Given the description of an element on the screen output the (x, y) to click on. 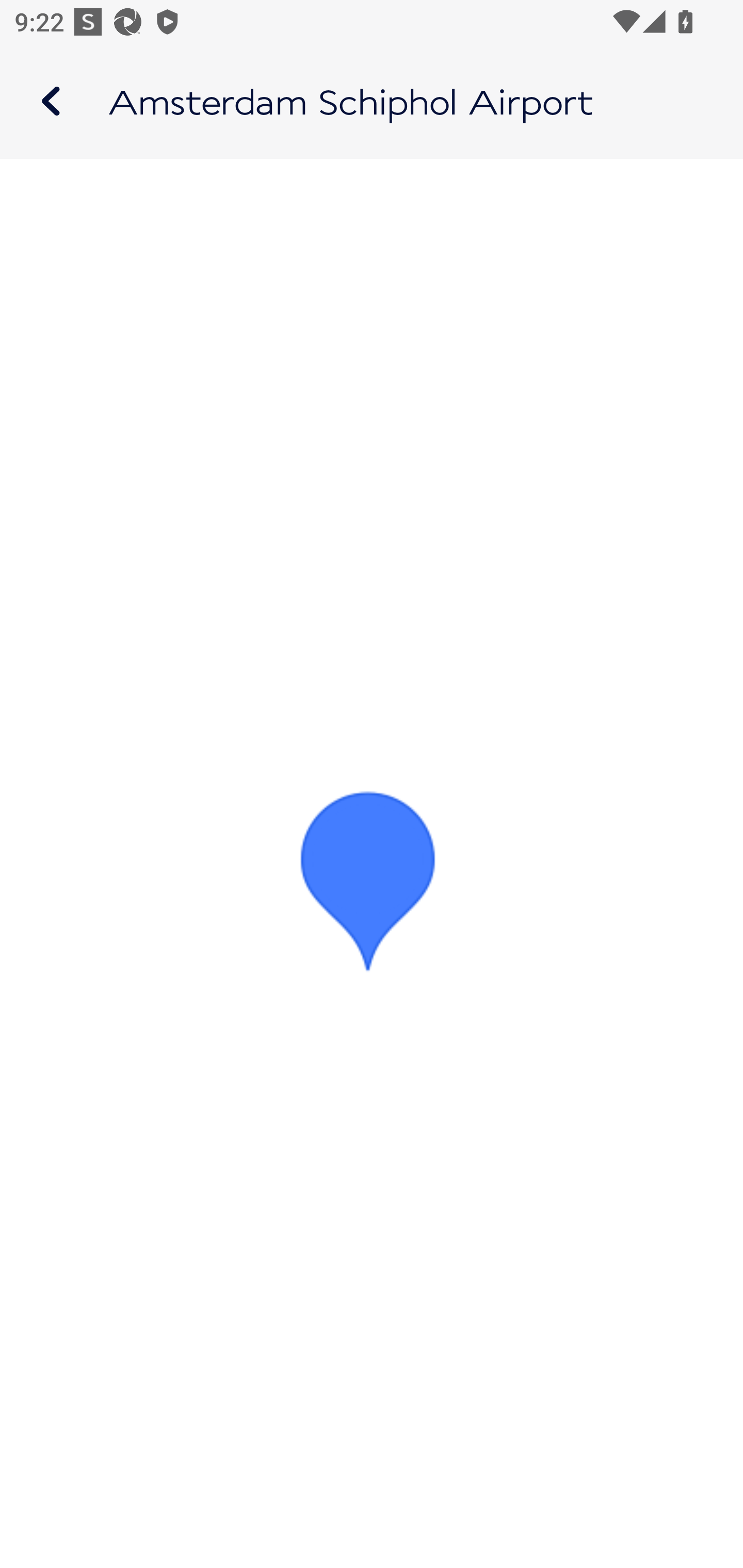
Airport map (371, 100)
